Given the description of an element on the screen output the (x, y) to click on. 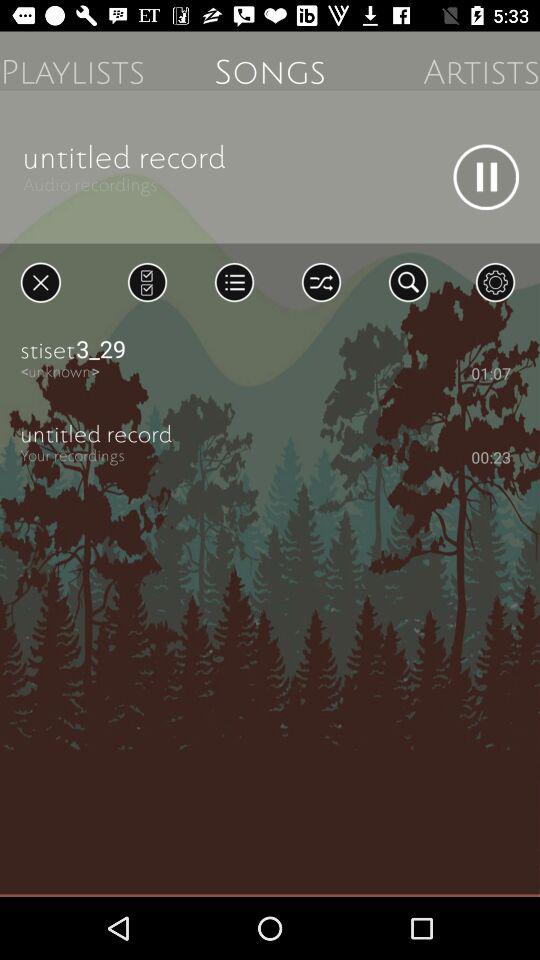
shuffle songs (321, 282)
